Given the description of an element on the screen output the (x, y) to click on. 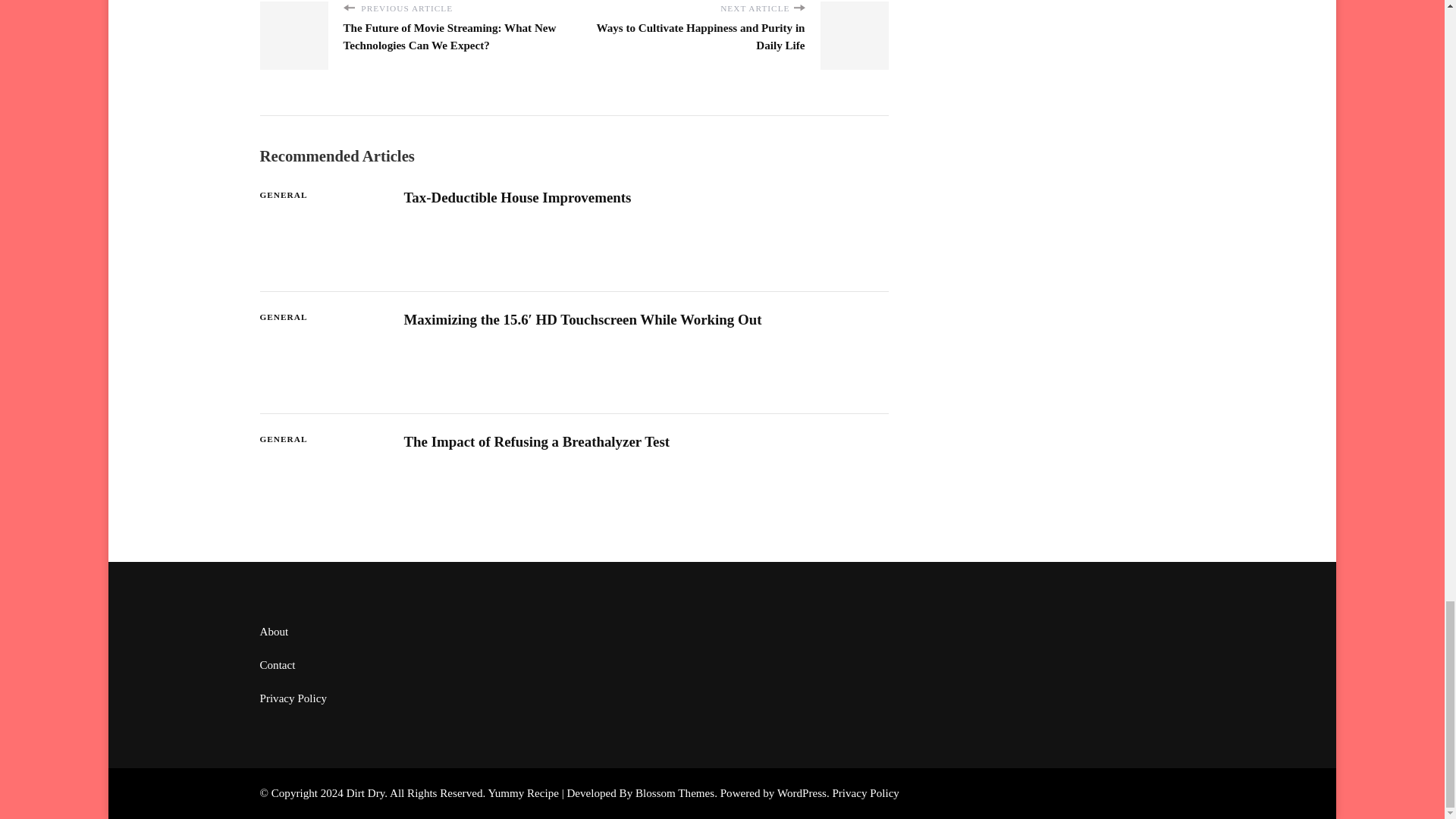
Tax-Deductible House Improvements (516, 197)
GENERAL (283, 439)
The Impact of Refusing a Breathalyzer Test (536, 441)
GENERAL (283, 195)
GENERAL (283, 317)
